Given the description of an element on the screen output the (x, y) to click on. 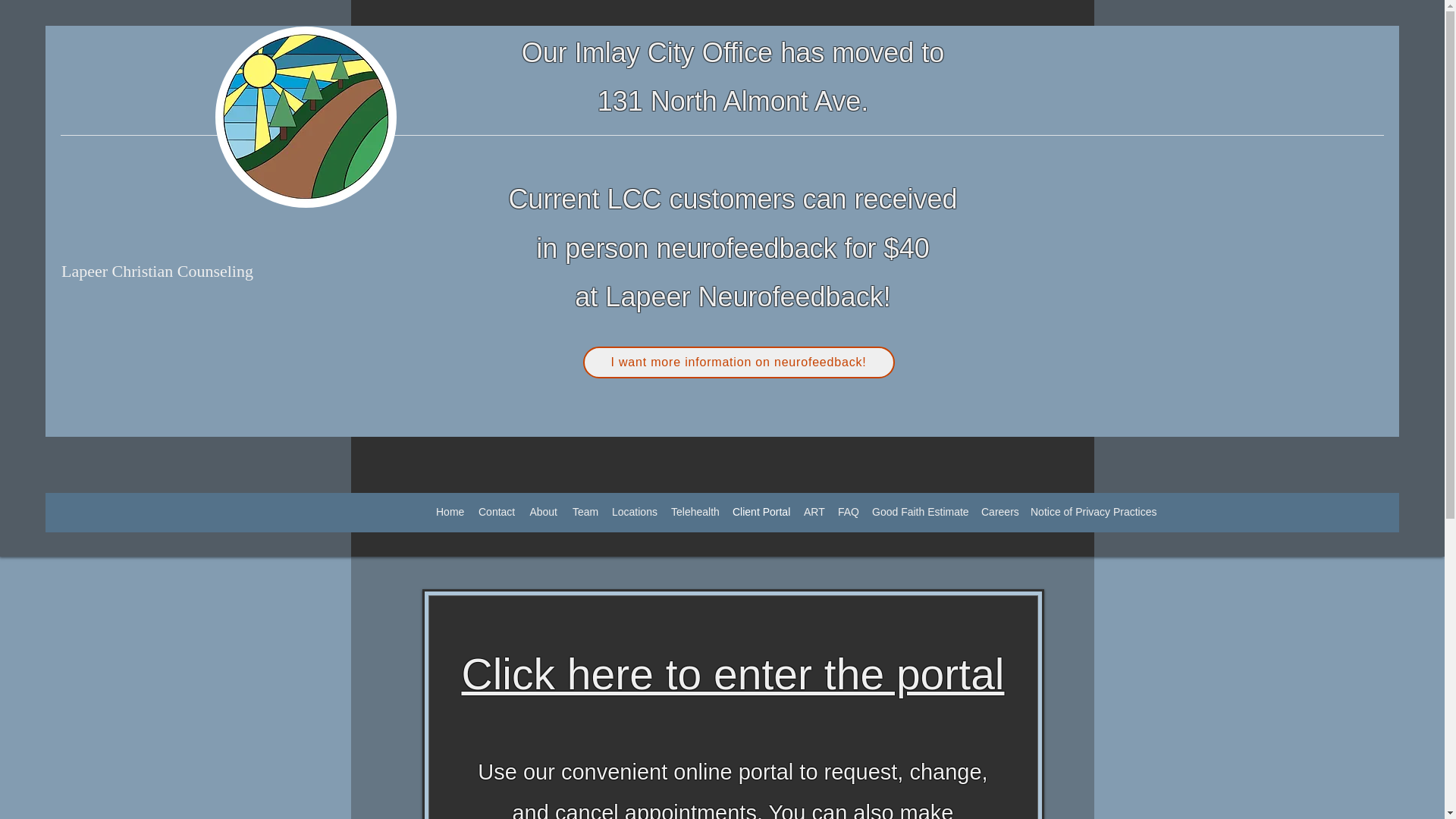
Careers (998, 511)
Lapeer Christian Counseling (157, 270)
Client Portal (760, 511)
Locations (633, 511)
Good Faith Estimate (919, 511)
About (542, 511)
Telehealth (694, 511)
Notice of Privacy Practices (1090, 511)
Contact (495, 511)
Home (449, 511)
Click here to enter the portal (732, 674)
I want more information on neurofeedback! (737, 362)
Team (584, 511)
